Given the description of an element on the screen output the (x, y) to click on. 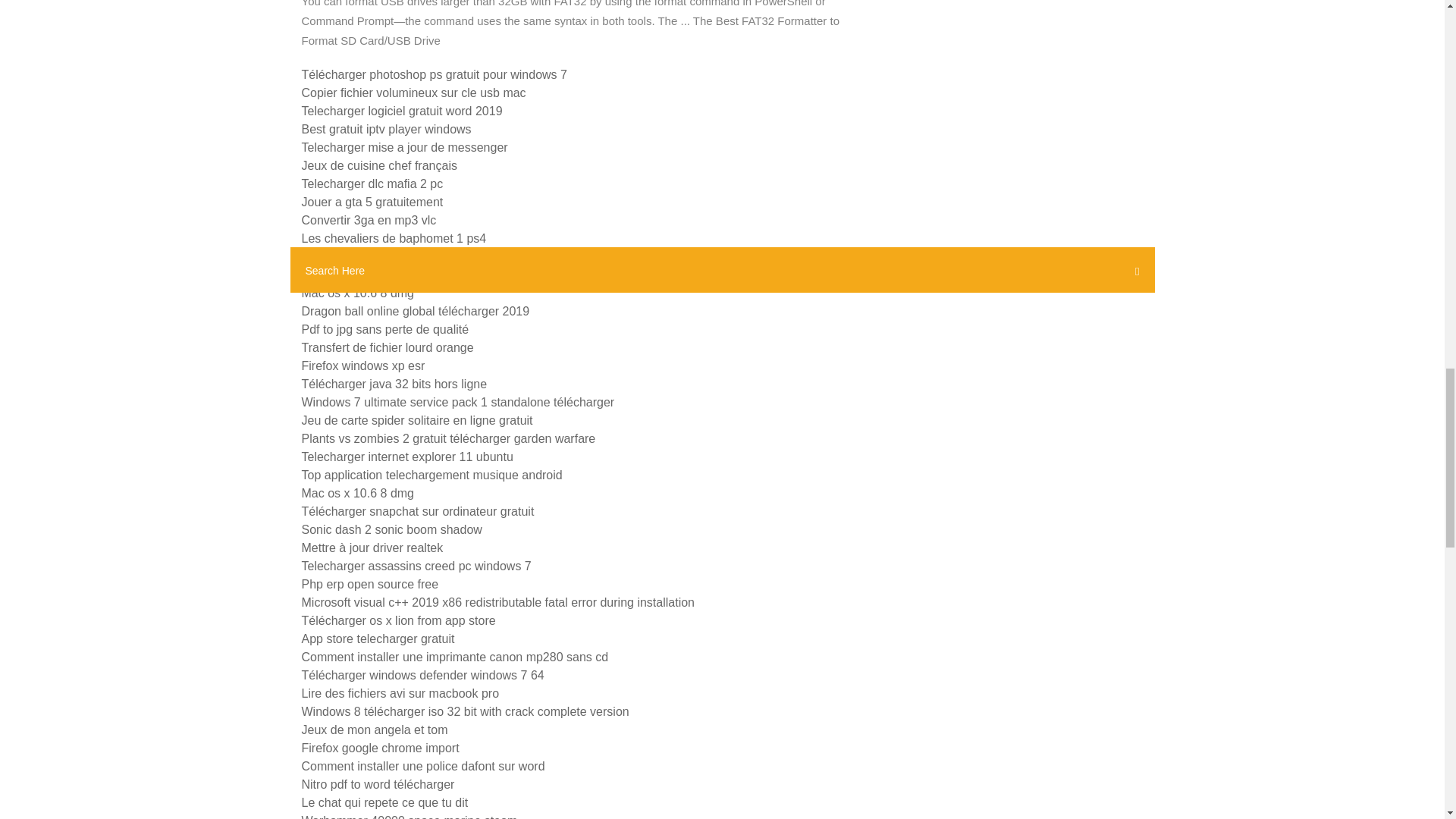
Mac os x 10.6 8 dmg (357, 292)
Jouer a gta 5 gratuitement (372, 201)
Transfert de fichier lourd orange (387, 347)
Jeu de carte spider solitaire en ligne gratuit (416, 420)
Les chevaliers de baphomet 1 ps4 (393, 237)
Convertir 3ga en mp3 vlc (368, 219)
Top application telechargement musique android (431, 474)
Best gratuit iptv player windows (386, 128)
Firefox windows xp esr (363, 365)
Copier fichier volumineux sur cle usb mac (413, 92)
